Given the description of an element on the screen output the (x, y) to click on. 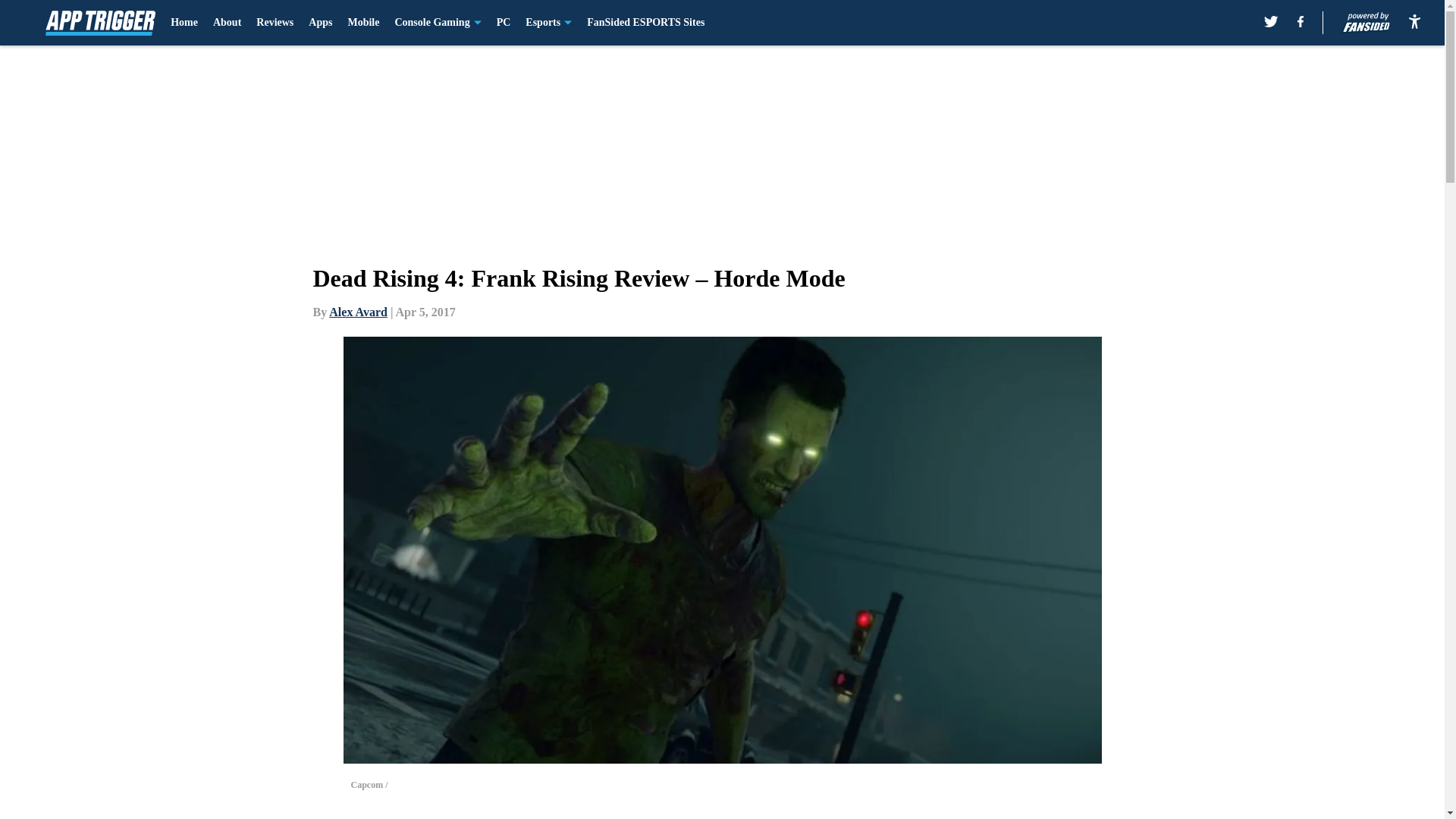
PC (503, 22)
Mobile (362, 22)
Reviews (275, 22)
Home (184, 22)
Alex Avard (358, 311)
FanSided ESPORTS Sites (645, 22)
Apps (319, 22)
About (226, 22)
